Given the description of an element on the screen output the (x, y) to click on. 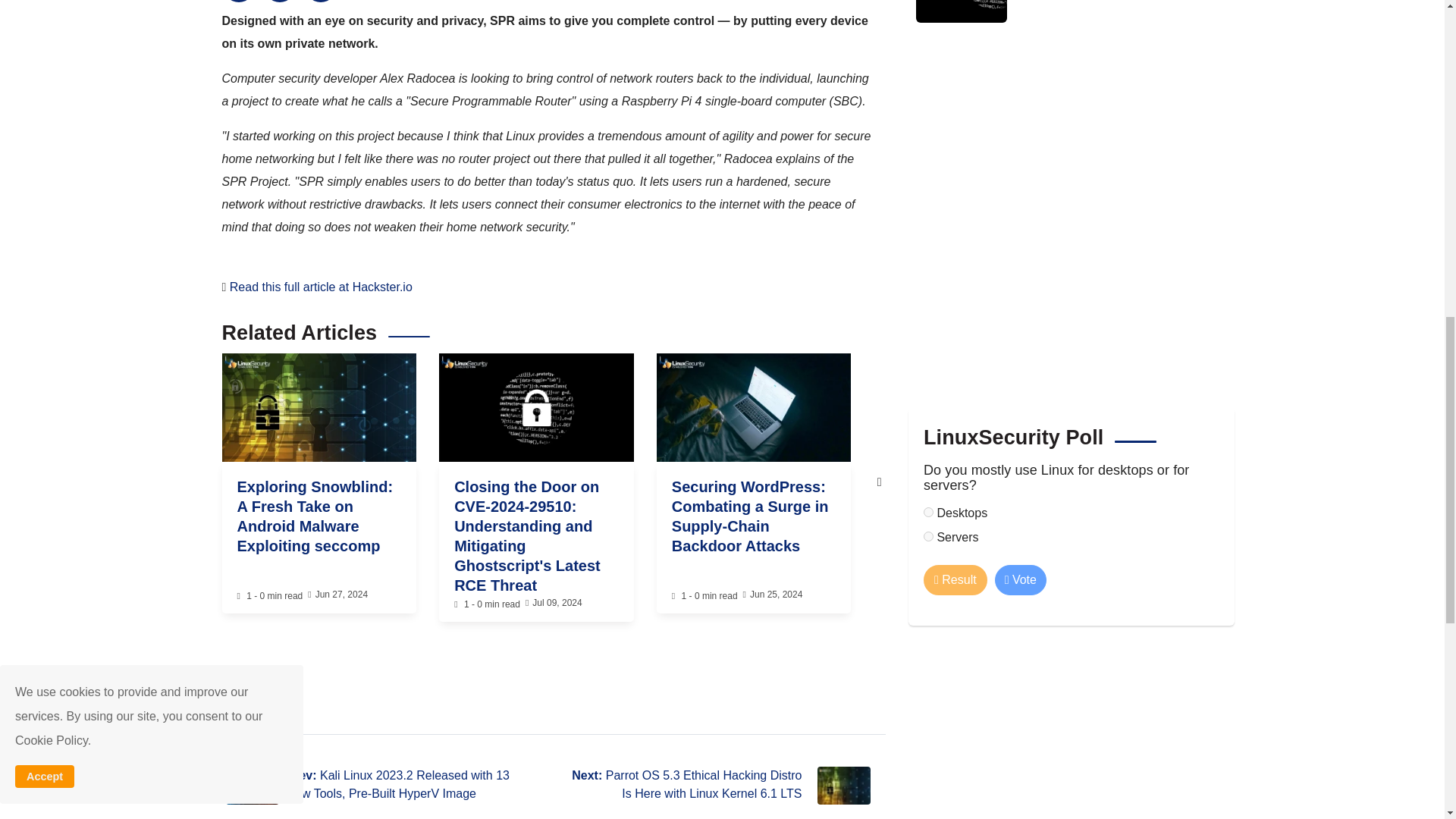
270 (928, 536)
269 (928, 511)
